Given the description of an element on the screen output the (x, y) to click on. 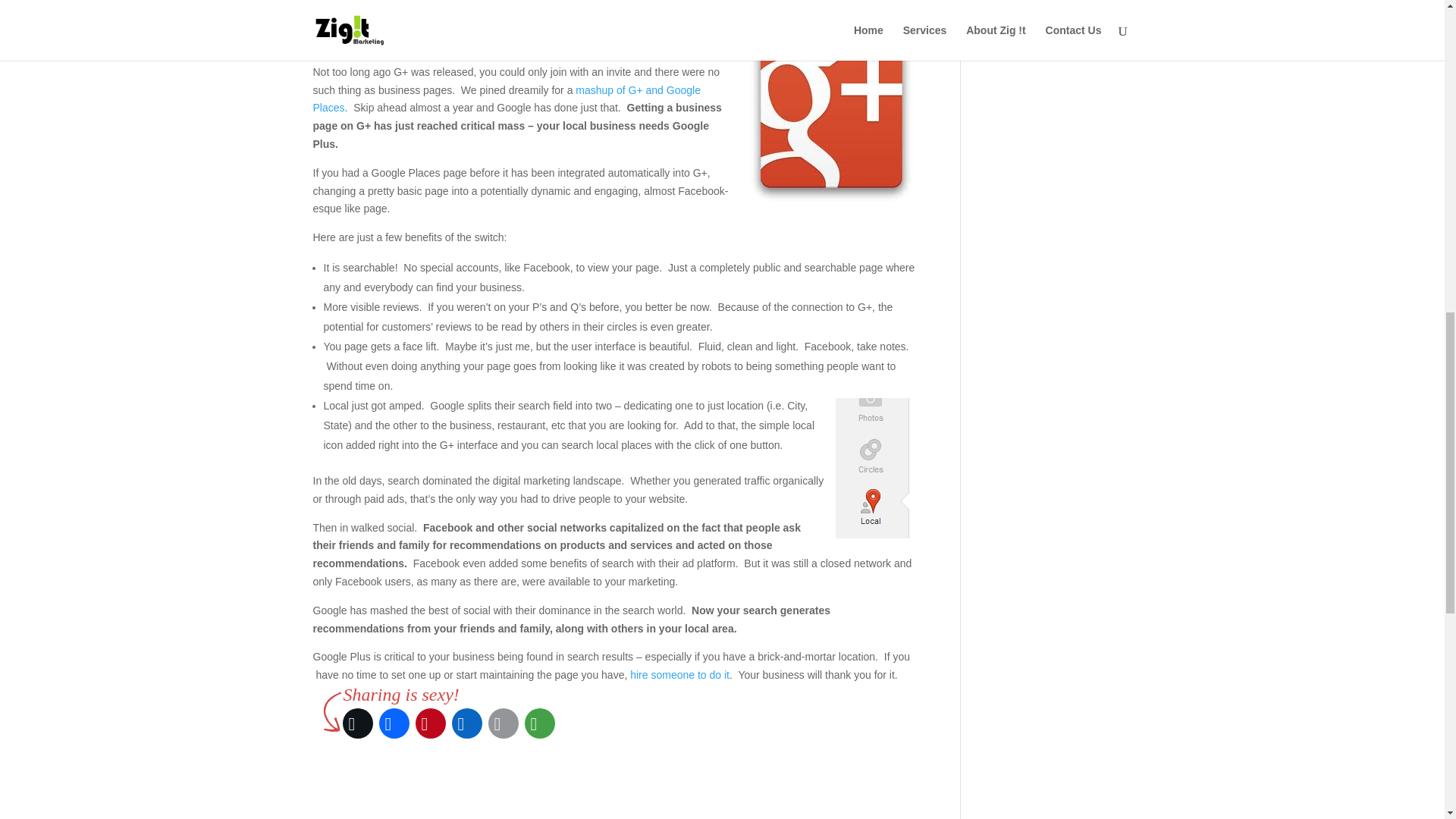
LinkedIn (466, 723)
Email This (518, 5)
Facebook (400, 5)
More Options (637, 5)
Pinterest (430, 723)
hire someone to do it (679, 674)
LinkedIn (578, 5)
Zig !t Marketing (679, 674)
Pinterest (459, 5)
Facebook (393, 723)
